Given the description of an element on the screen output the (x, y) to click on. 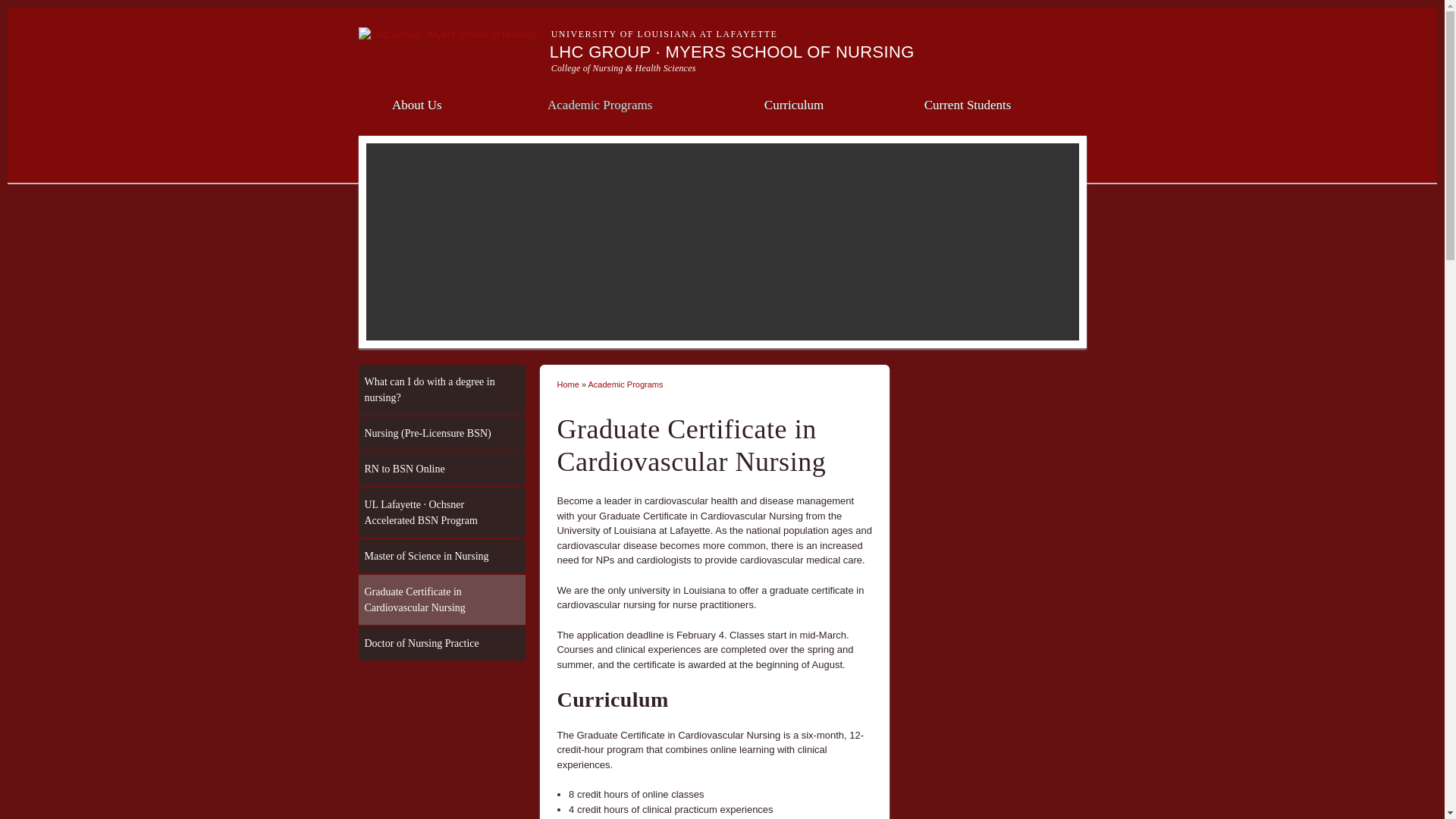
What can I do with a degree in nursing? (441, 389)
Home (732, 51)
Skip to main content (693, 1)
About Us (417, 103)
Curriculum (793, 103)
Academic Programs (599, 103)
Current Students (967, 103)
Explore (1048, 20)
Louisiana.edu (446, 34)
